Given the description of an element on the screen output the (x, y) to click on. 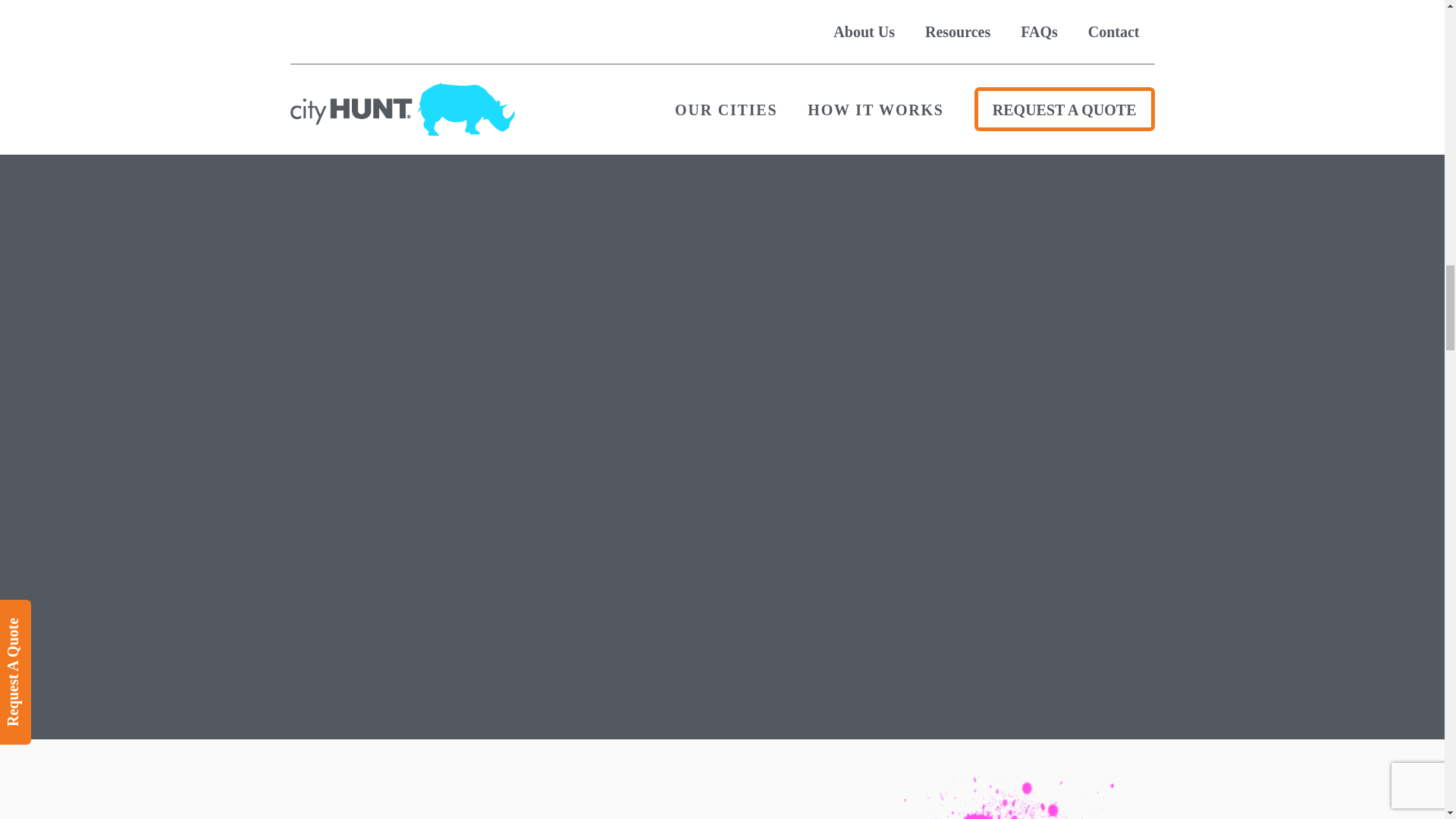
Request A Quote (69, 617)
